Given the description of an element on the screen output the (x, y) to click on. 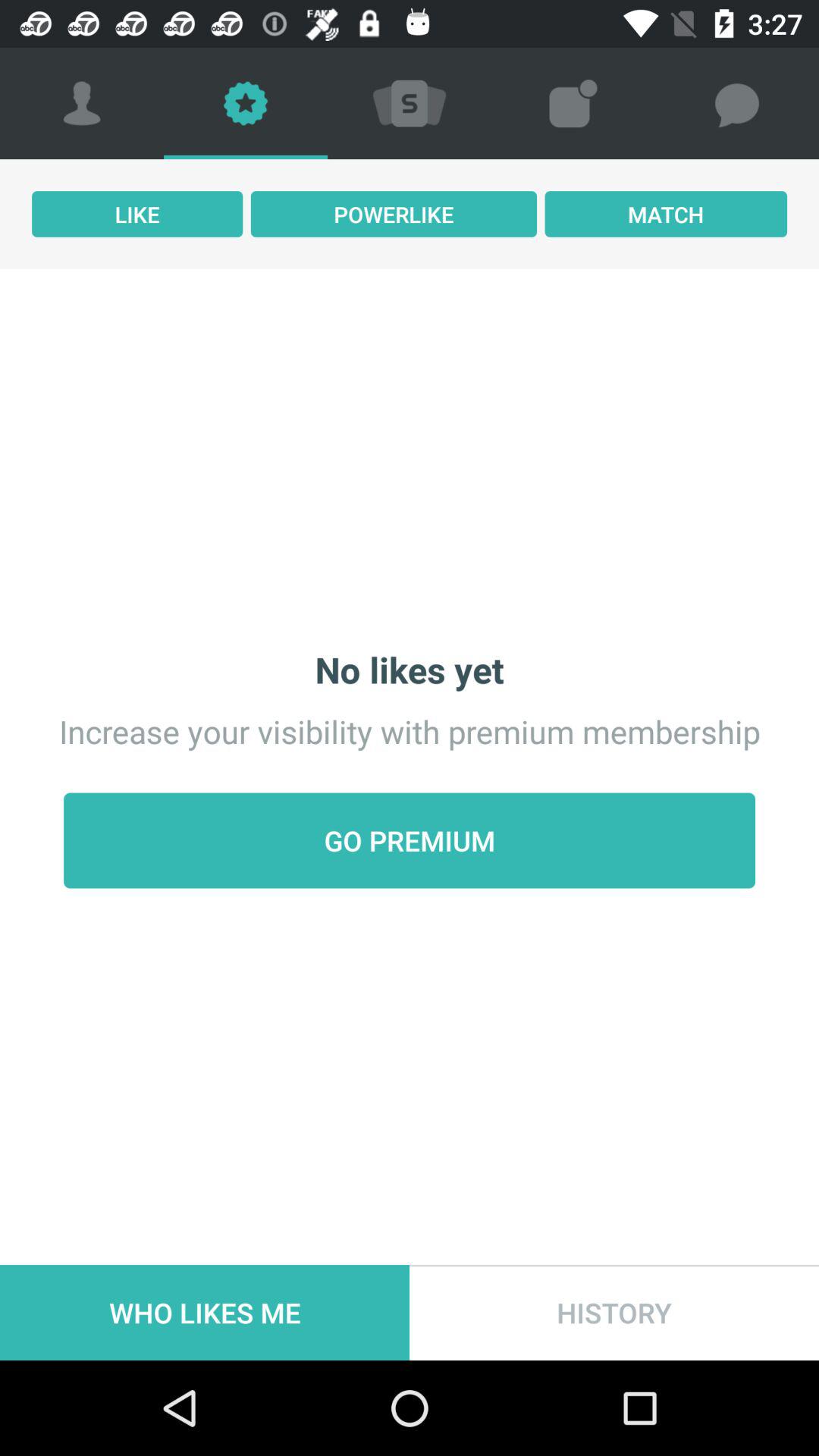
turn off item at the bottom left corner (204, 1312)
